Given the description of an element on the screen output the (x, y) to click on. 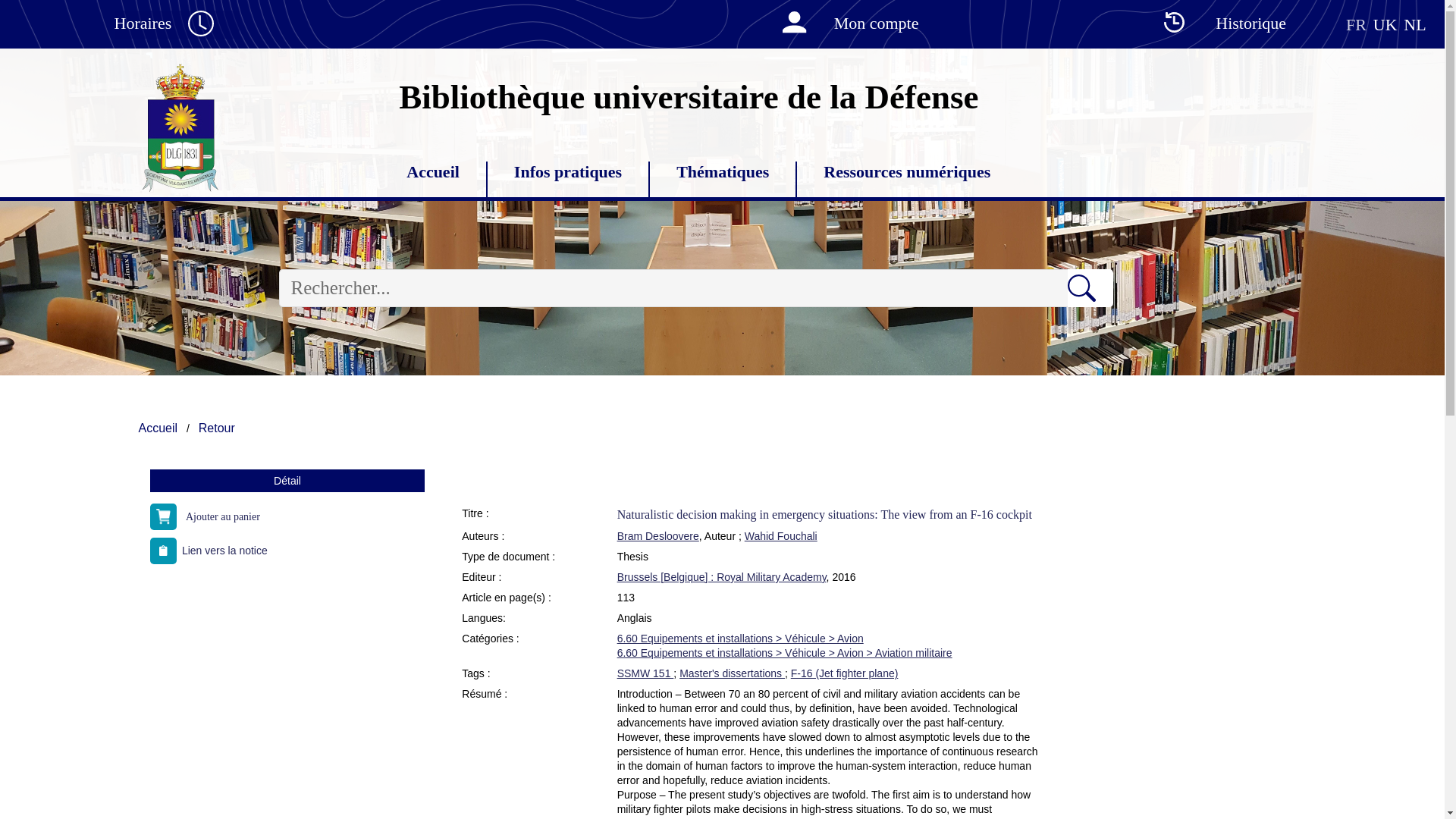
Infos pratiques (567, 172)
Logo portail (180, 126)
Historique des recherches (1216, 24)
Mon compte (841, 24)
FR (1356, 24)
Infos pratiques (567, 172)
Accueil (433, 172)
Horaires (177, 24)
Rechercher (1090, 288)
UK (1385, 24)
